Given the description of an element on the screen output the (x, y) to click on. 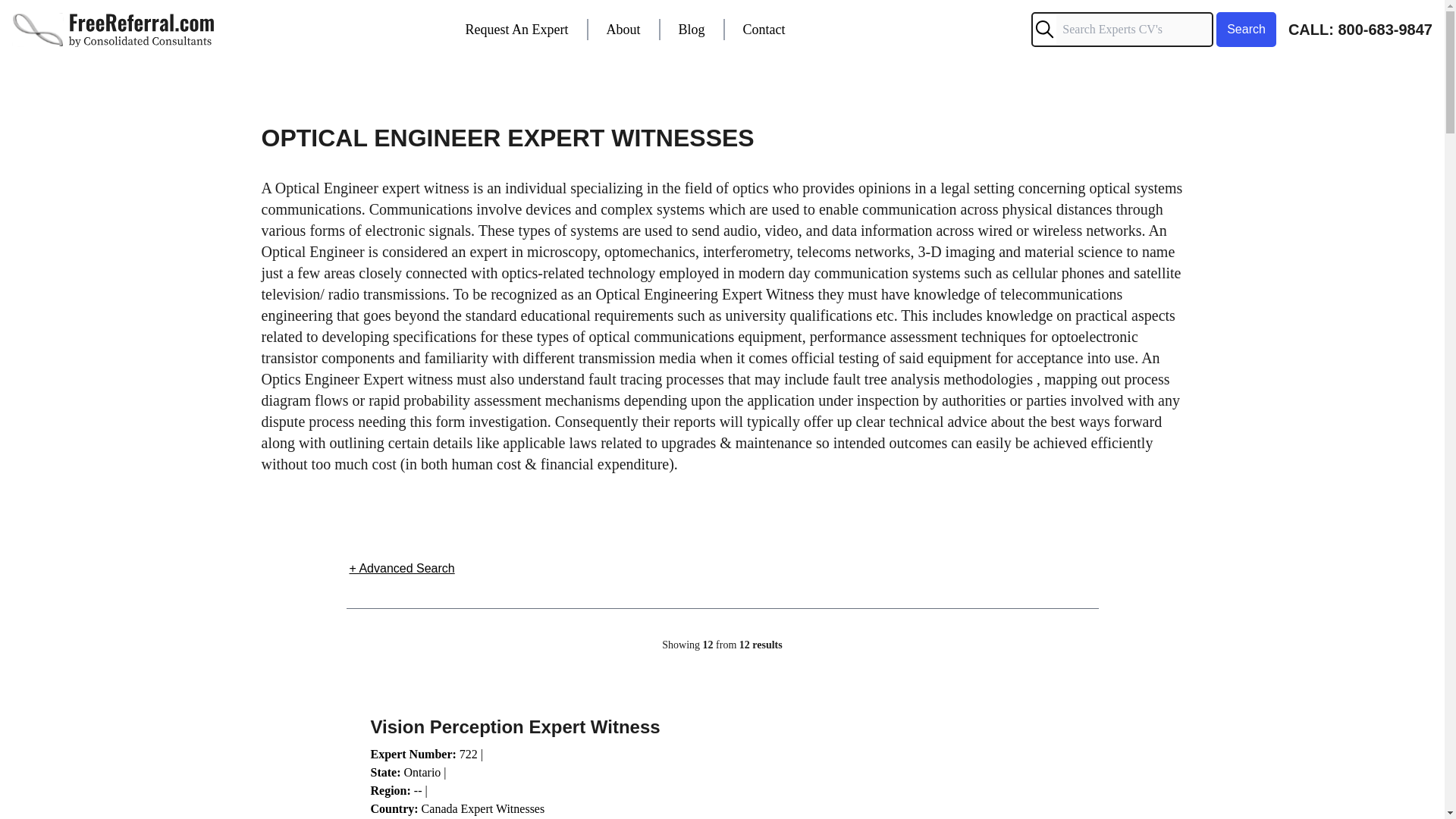
Request An Expert (517, 29)
Contact (764, 29)
Search (1245, 29)
About (623, 29)
Blog (691, 29)
CALL: 800-683-9847 (1360, 29)
